Given the description of an element on the screen output the (x, y) to click on. 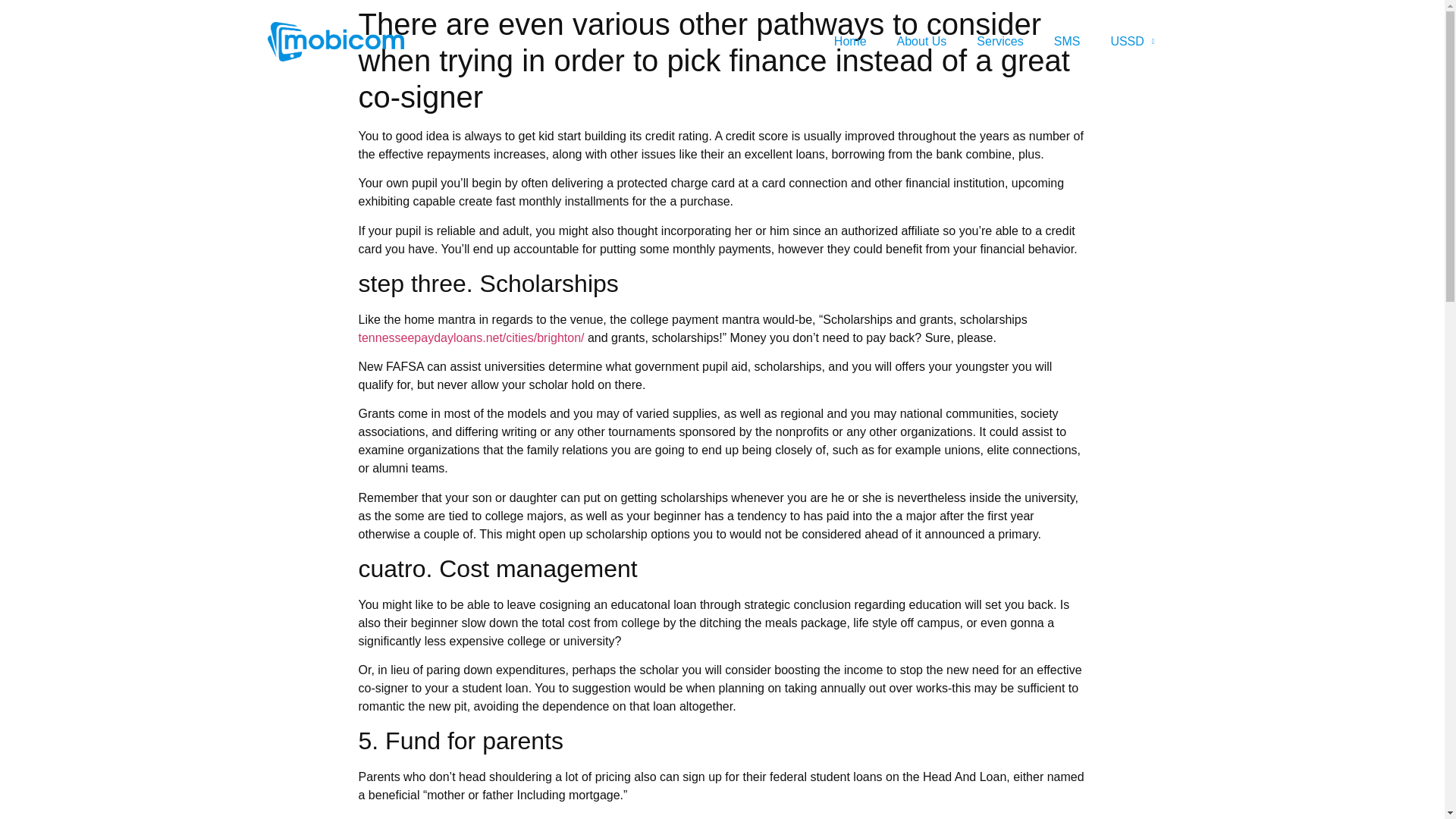
USSD (1131, 41)
About Us (922, 41)
SMS (1067, 41)
Home (850, 41)
Services (999, 41)
